Given the description of an element on the screen output the (x, y) to click on. 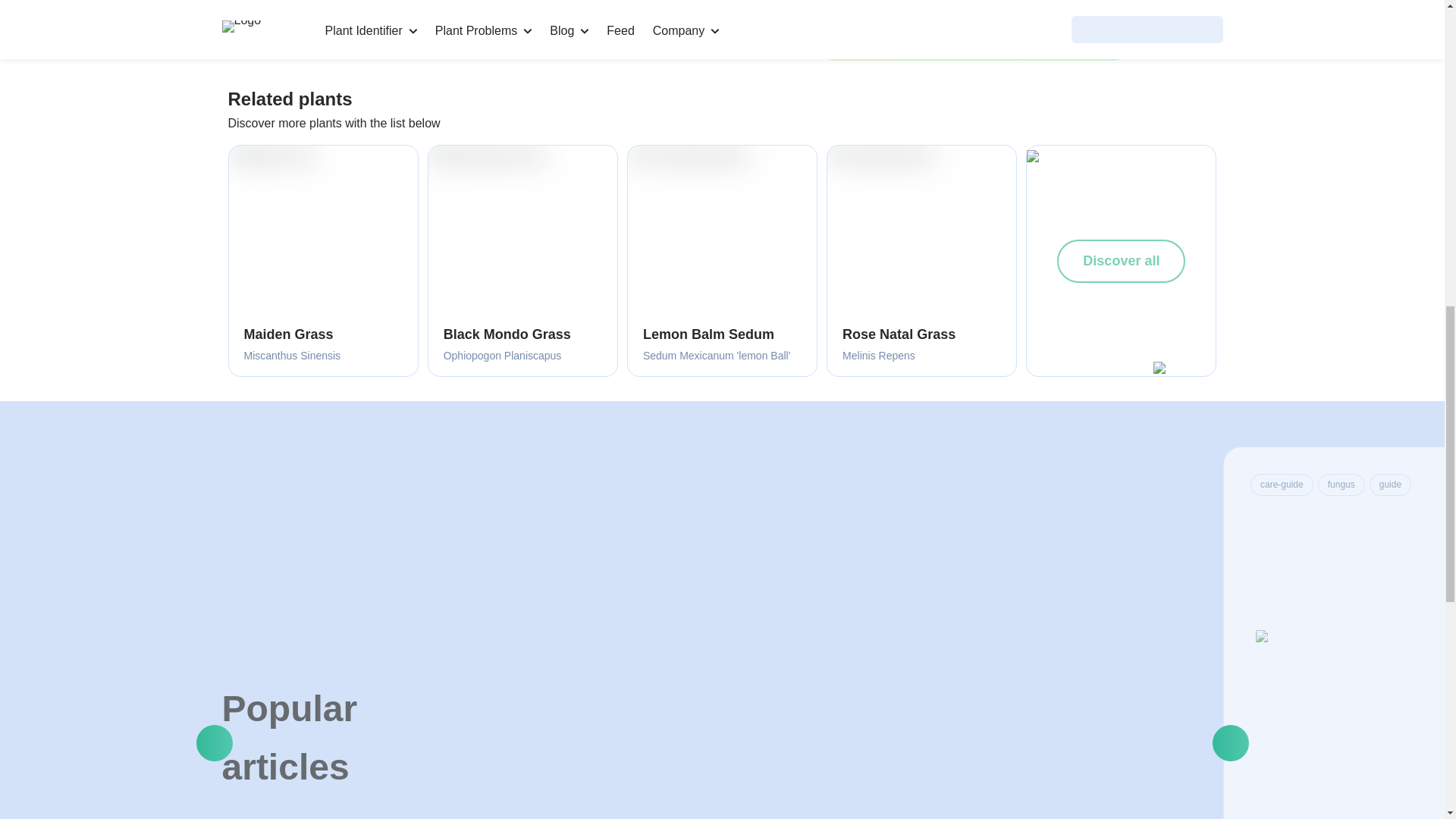
Explore (743, 21)
